Given the description of an element on the screen output the (x, y) to click on. 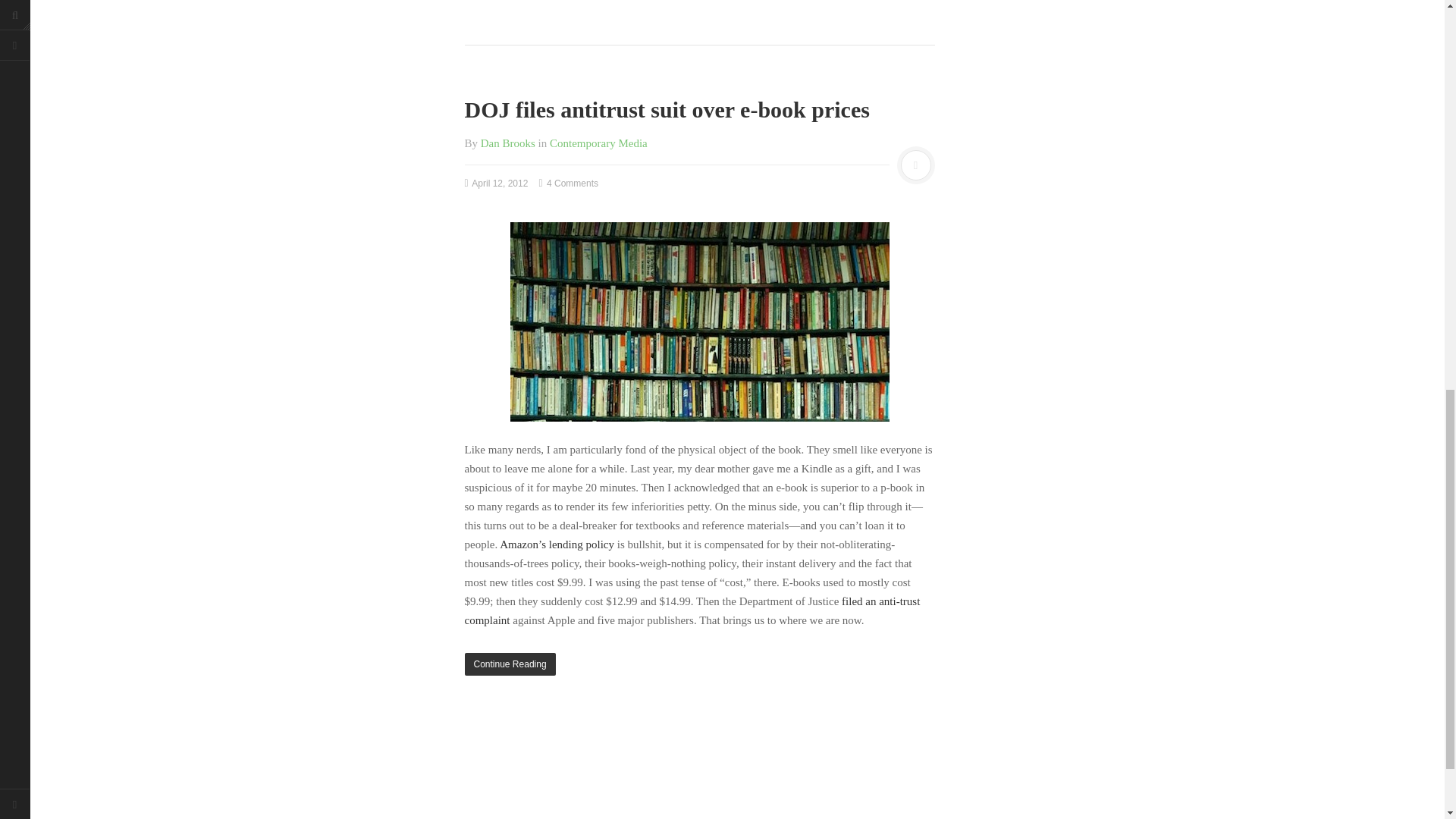
DOJ files antitrust suit over e-book prices (666, 109)
12:16 pm (495, 183)
View all posts by Dan Brooks (507, 143)
April 12, 2012 (495, 183)
Contemporary Media (598, 143)
4 Comments (568, 183)
Continue Reading (699, 663)
The Latin Quarter, Paris, France (698, 321)
filed an anti-trust complaint (692, 610)
Dan Brooks (507, 143)
